Given the description of an element on the screen output the (x, y) to click on. 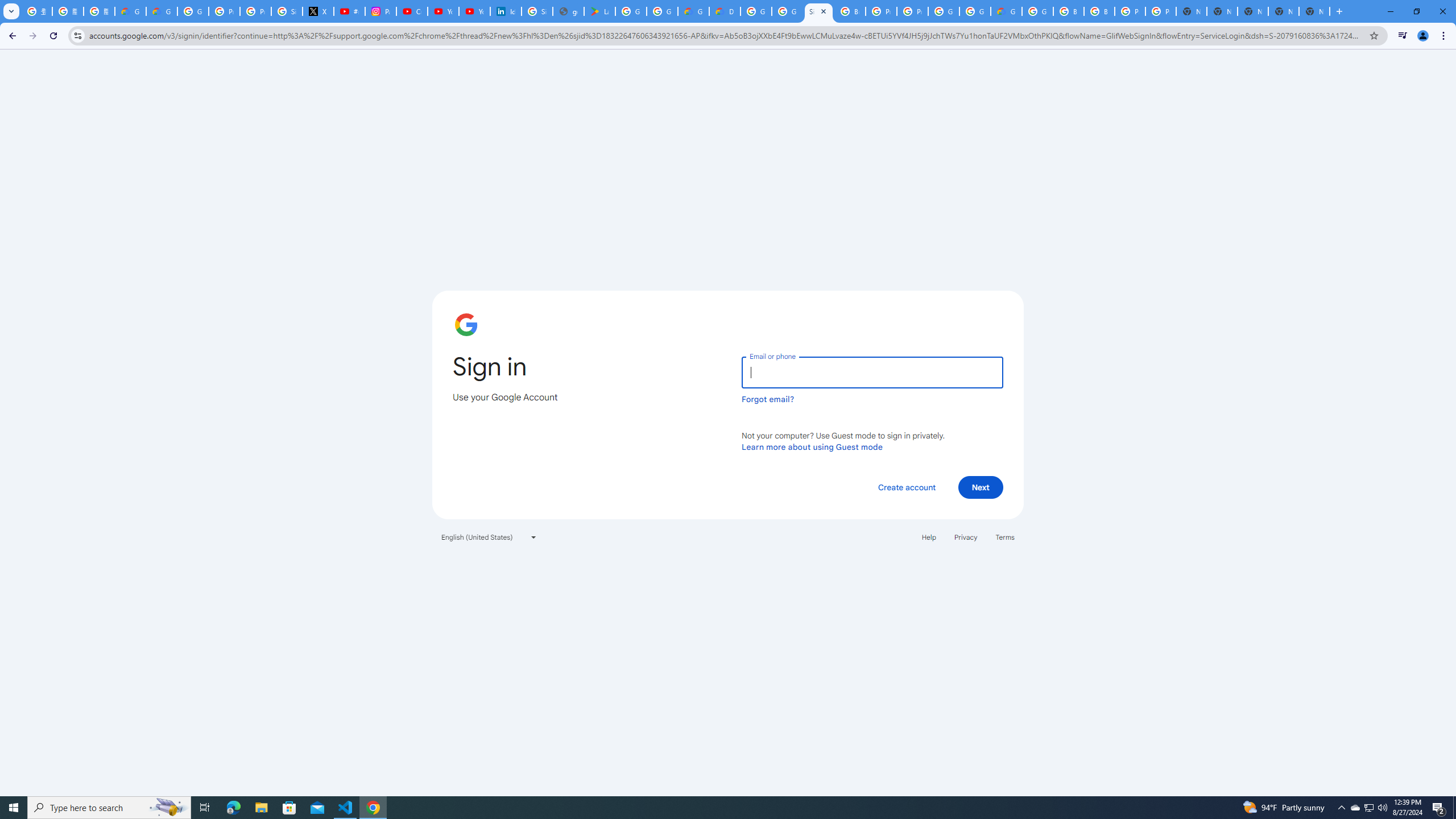
Google Cloud Platform (1037, 11)
Privacy Help Center - Policies Help (223, 11)
Email or phone (871, 372)
Google Cloud Platform (756, 11)
